Given the description of an element on the screen output the (x, y) to click on. 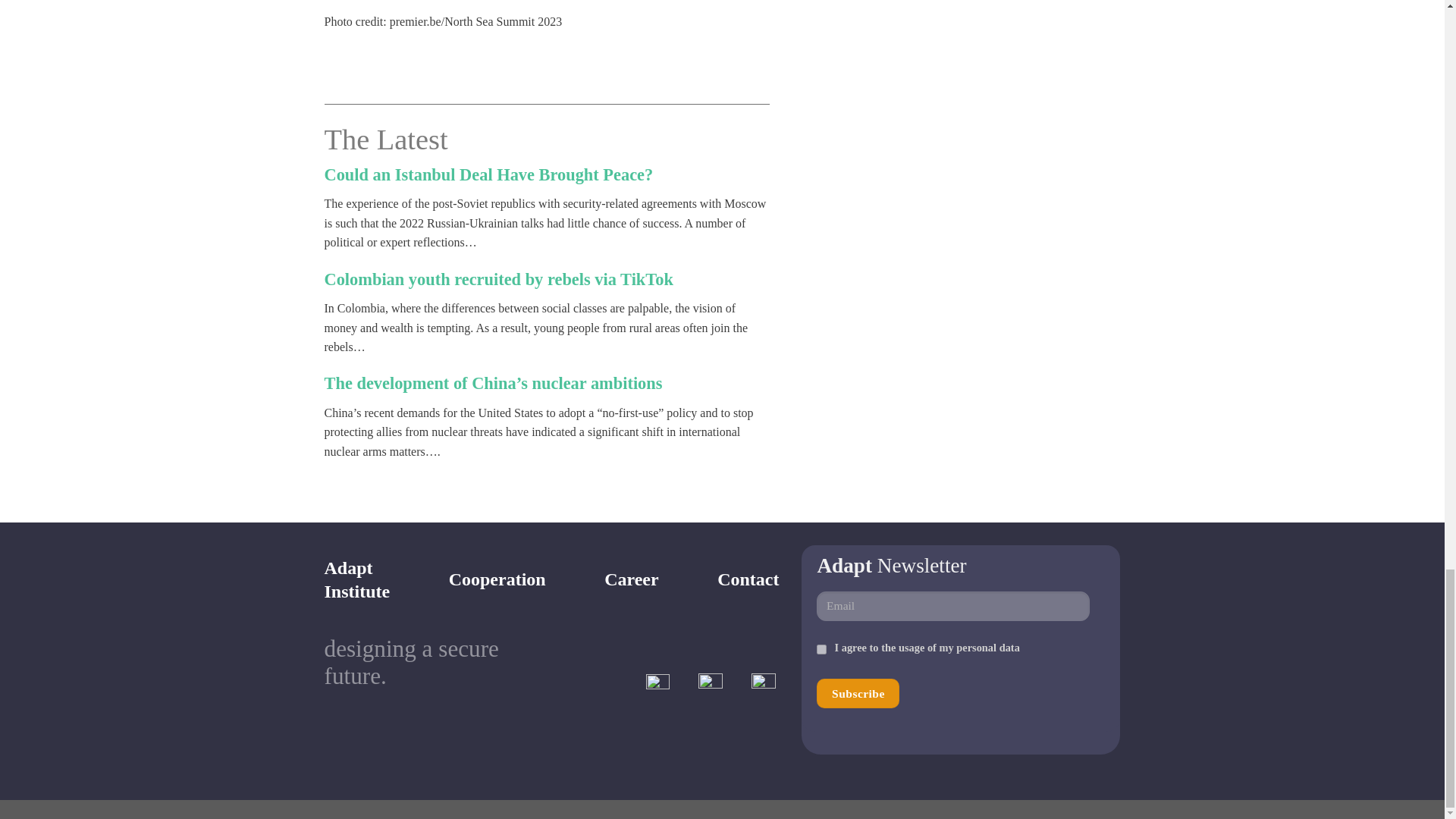
Career (357, 579)
Could an Istanbul Deal Have Brought Peace? (631, 578)
Contact (488, 174)
Subscribe (747, 578)
Subscribe (857, 693)
Cooperation (857, 693)
on (497, 578)
Colombian youth recruited by rebels via TikTok (821, 649)
